Given the description of an element on the screen output the (x, y) to click on. 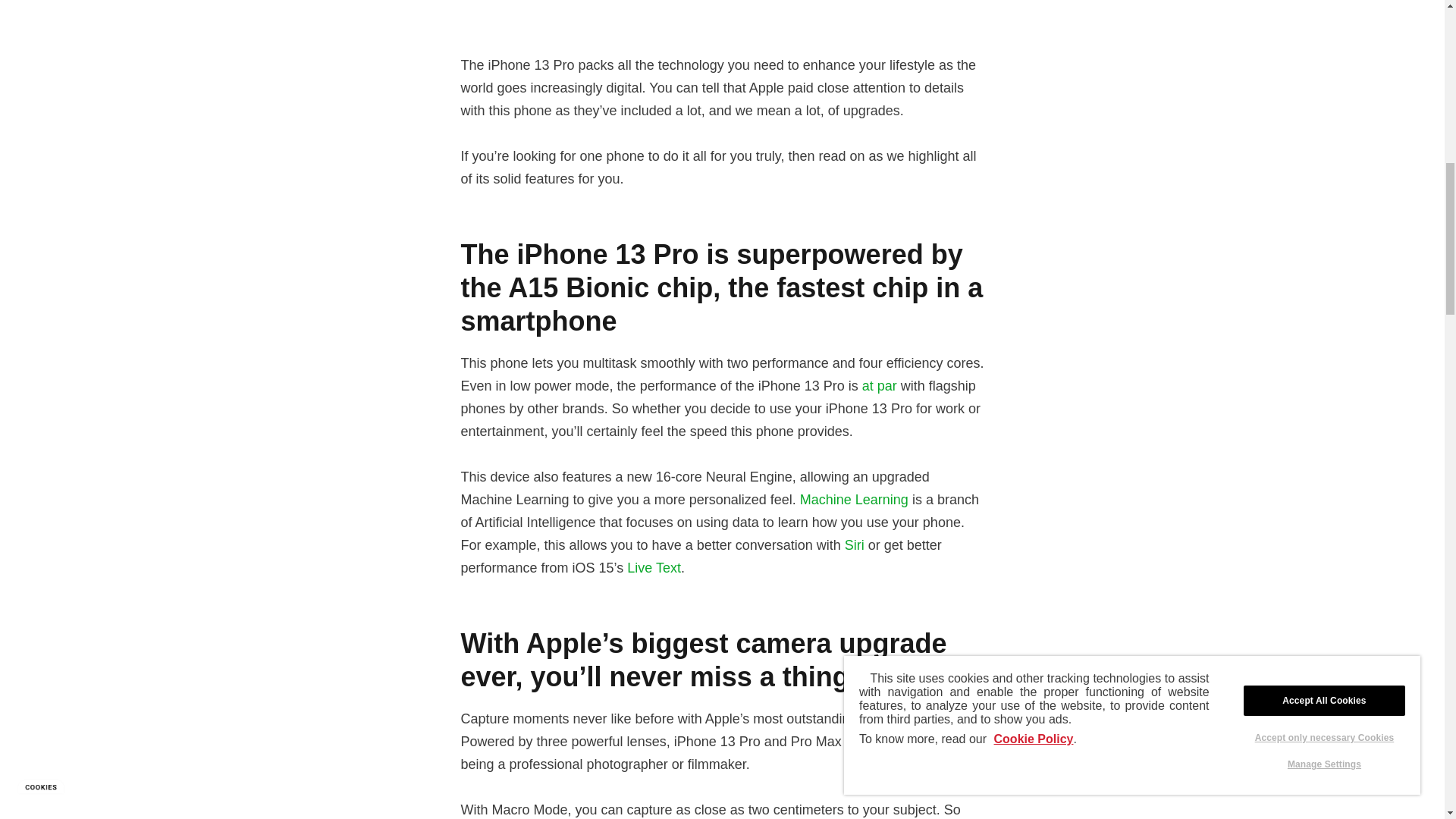
Machine Learning (853, 499)
Live Text (654, 567)
at par (878, 385)
Siri (854, 544)
